Given the description of an element on the screen output the (x, y) to click on. 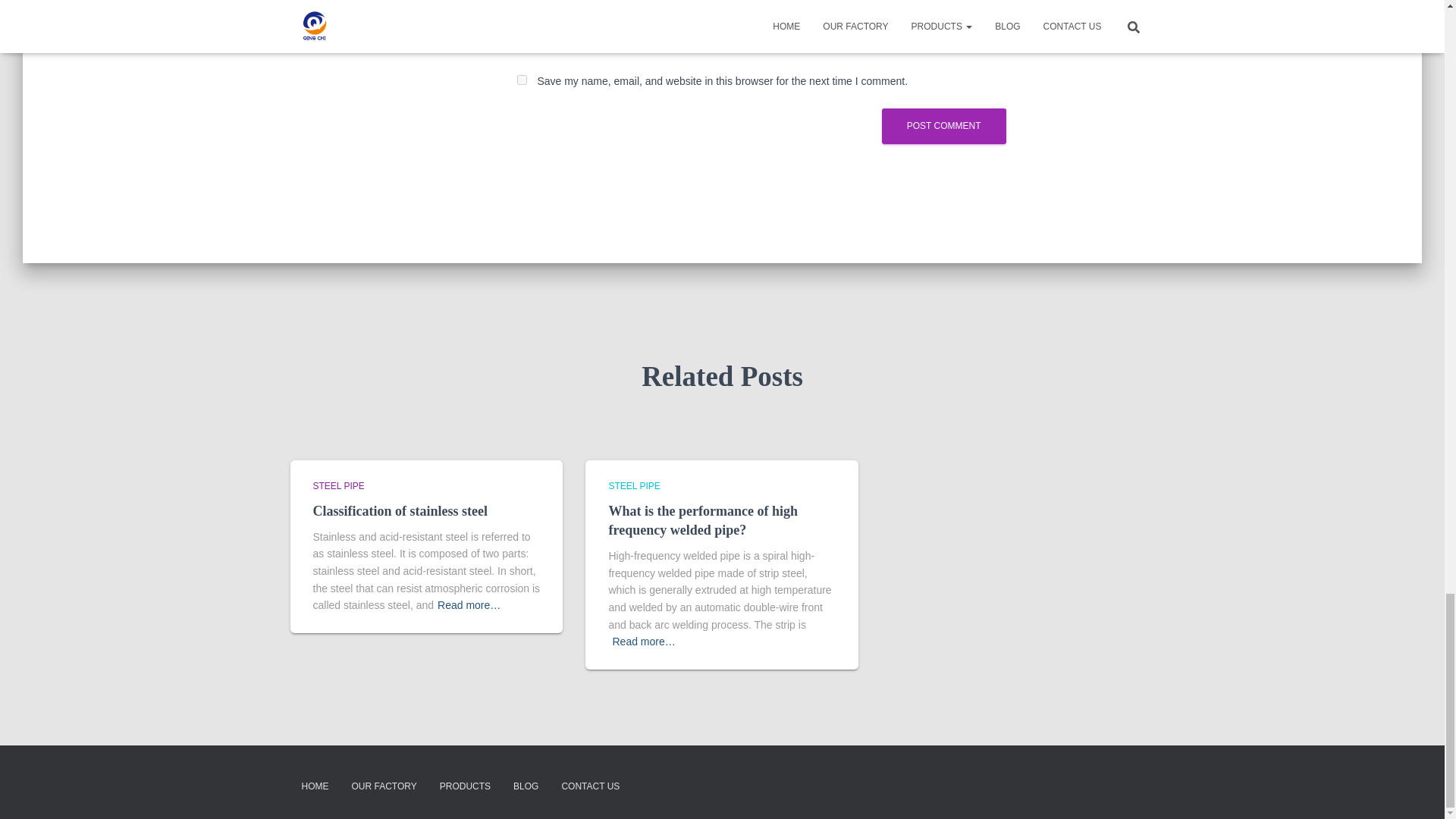
STEEL PIPE (338, 485)
CONTACT US (590, 786)
View all posts in Steel pipe (338, 485)
HOME (314, 786)
PRODUCTS (465, 786)
STEEL PIPE (633, 485)
What is the performance of high frequency welded pipe? (702, 520)
View all posts in Steel pipe (633, 485)
Post Comment (944, 126)
Classification of stainless steel (399, 510)
OUR FACTORY (383, 786)
Post Comment (944, 126)
Classification of stainless steel (399, 510)
BLOG (526, 786)
yes (521, 80)
